Given the description of an element on the screen output the (x, y) to click on. 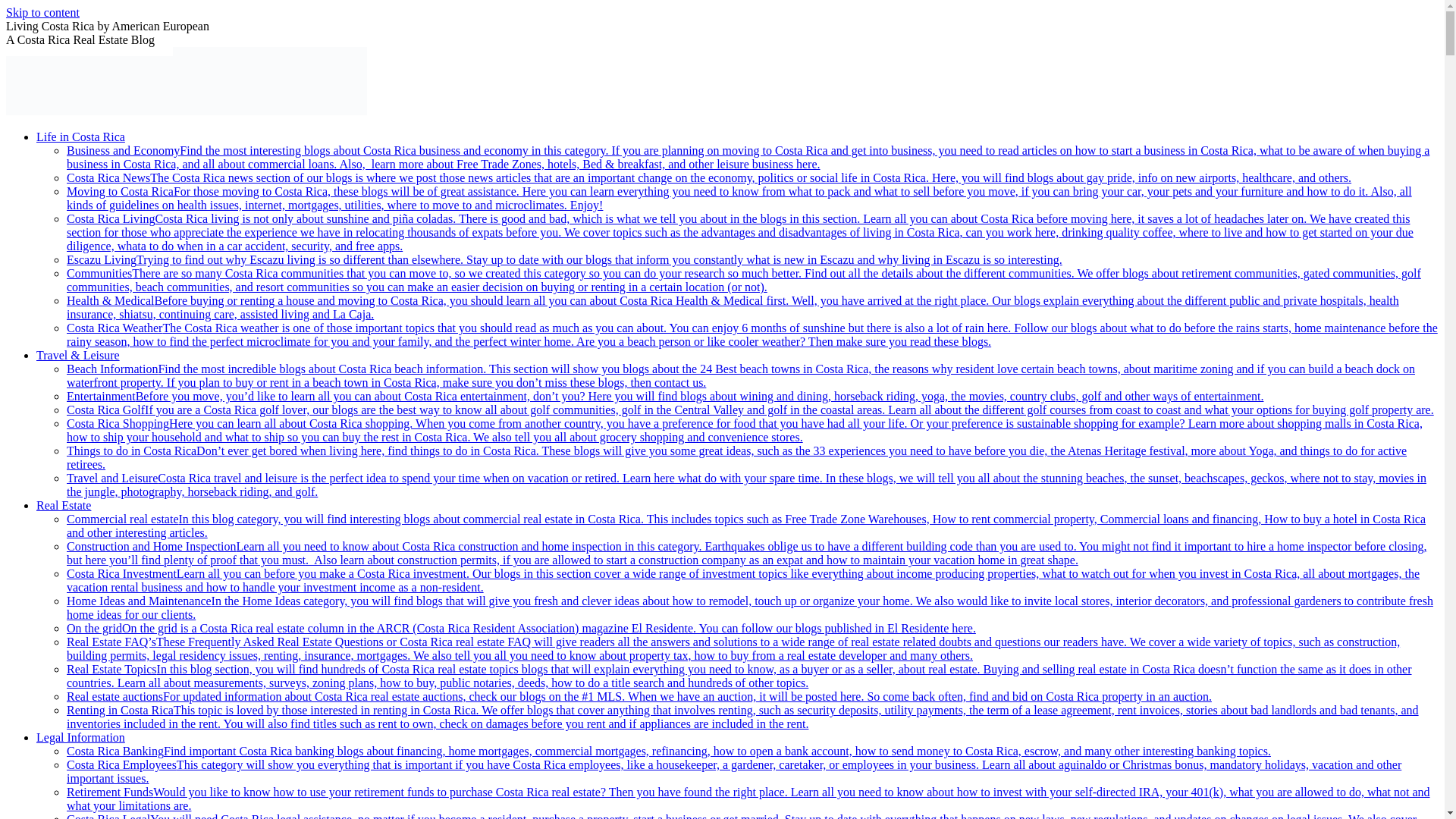
Legal Information (80, 737)
Costa Rica Beach Information (740, 375)
Real Estate (63, 504)
Costa Rica Communities (743, 279)
Skip to content (42, 11)
Costa Rica Business and Economy (747, 157)
Costa Rica Shopping (744, 429)
Frequently Asked Real Estate Questions (732, 648)
Costa Rica Travel and Leisure (746, 484)
Costa Rica Real Estate Topics (739, 675)
Costa Rica Construction and Home Inspection (746, 552)
